Given the description of an element on the screen output the (x, y) to click on. 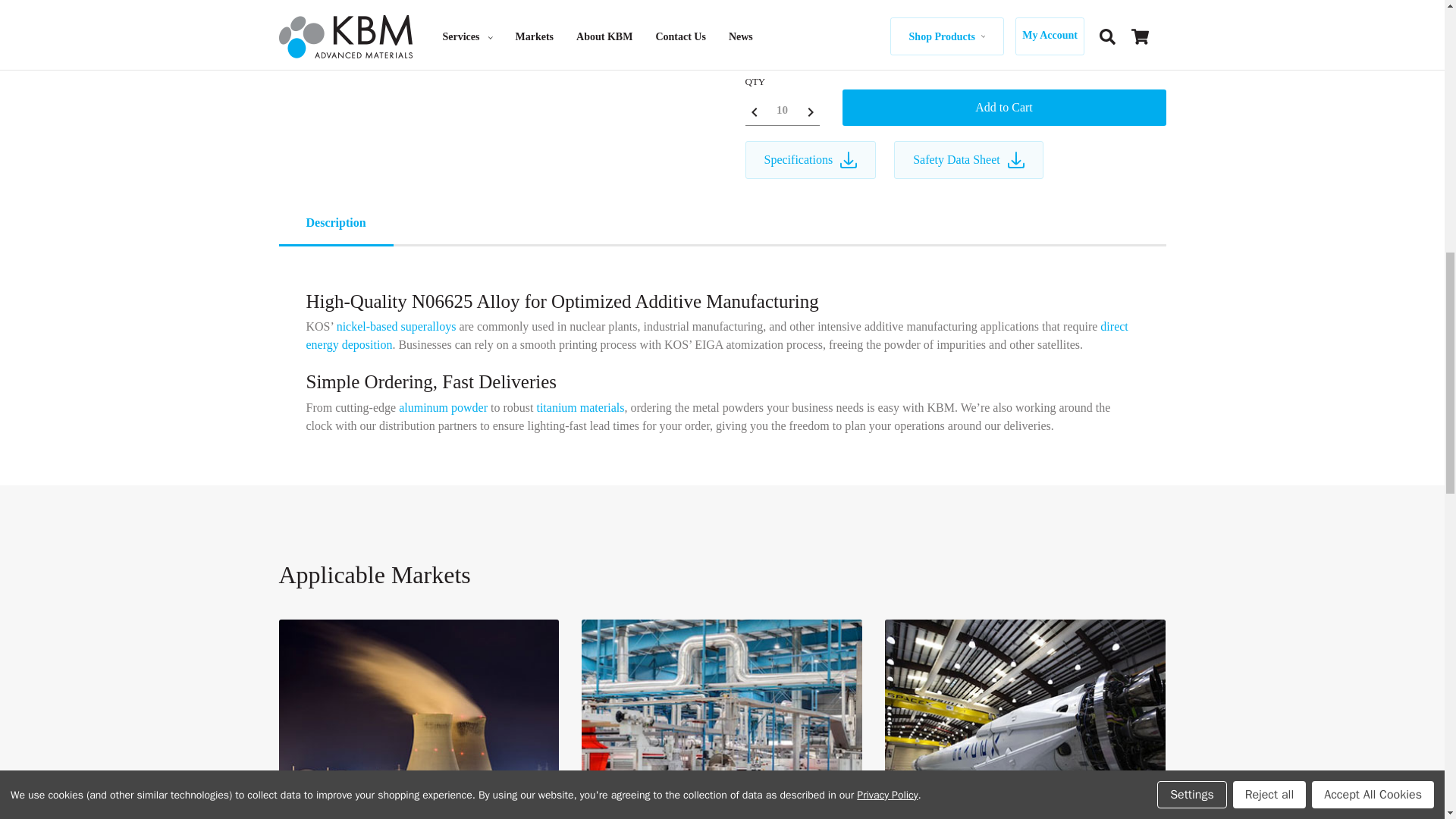
Add to Cart (1003, 107)
10 (781, 110)
